Given the description of an element on the screen output the (x, y) to click on. 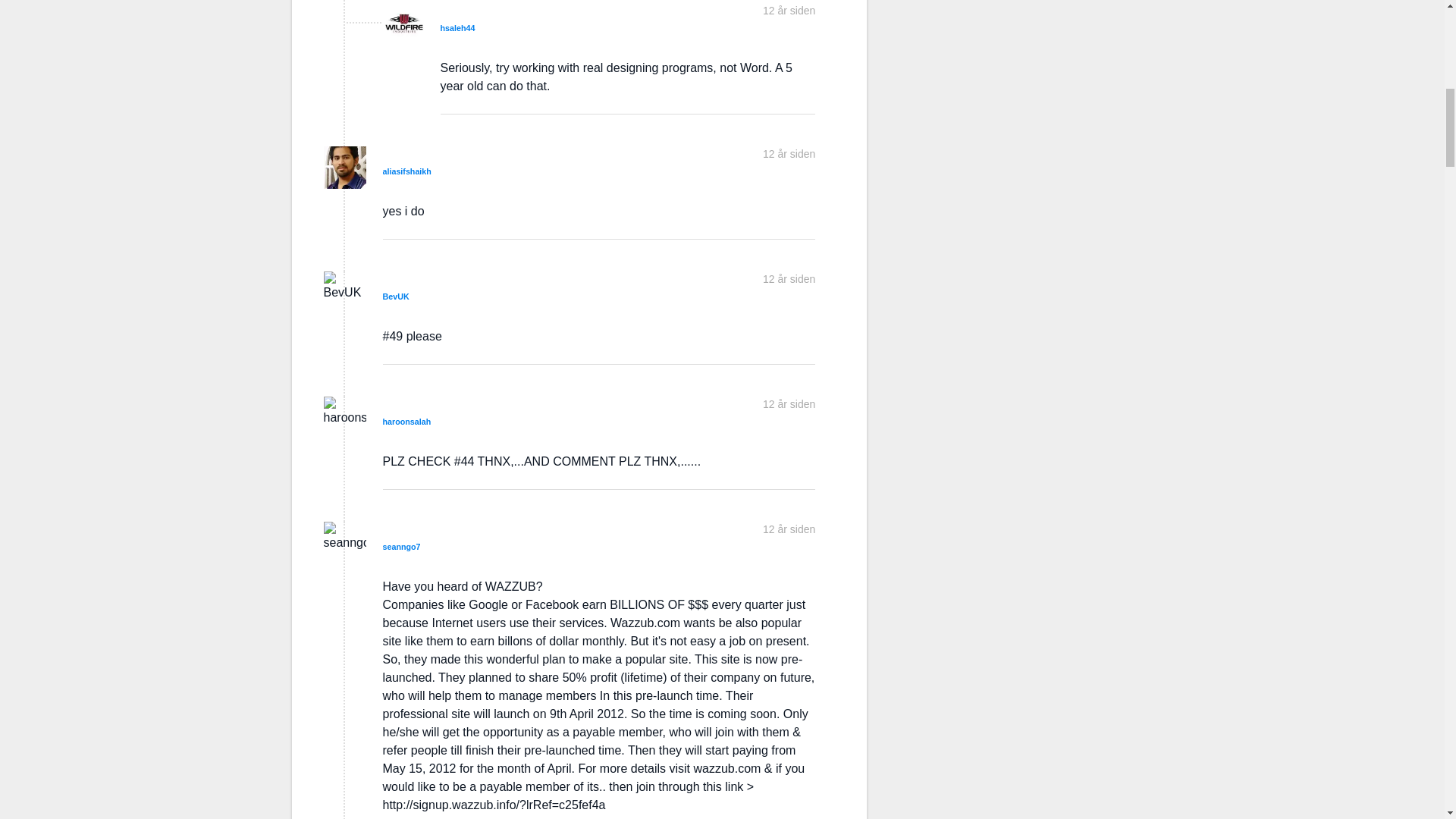
seanngo7 (400, 546)
haroonsalah (405, 420)
BevUK (395, 296)
hsaleh44 (456, 27)
aliasifshaikh (405, 171)
